Given the description of an element on the screen output the (x, y) to click on. 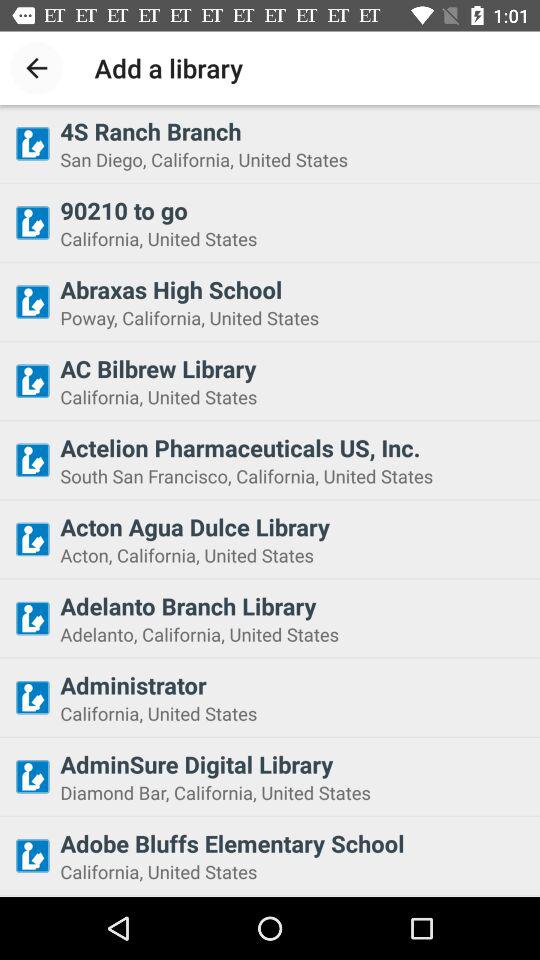
press adelanto branch library (294, 606)
